Given the description of an element on the screen output the (x, y) to click on. 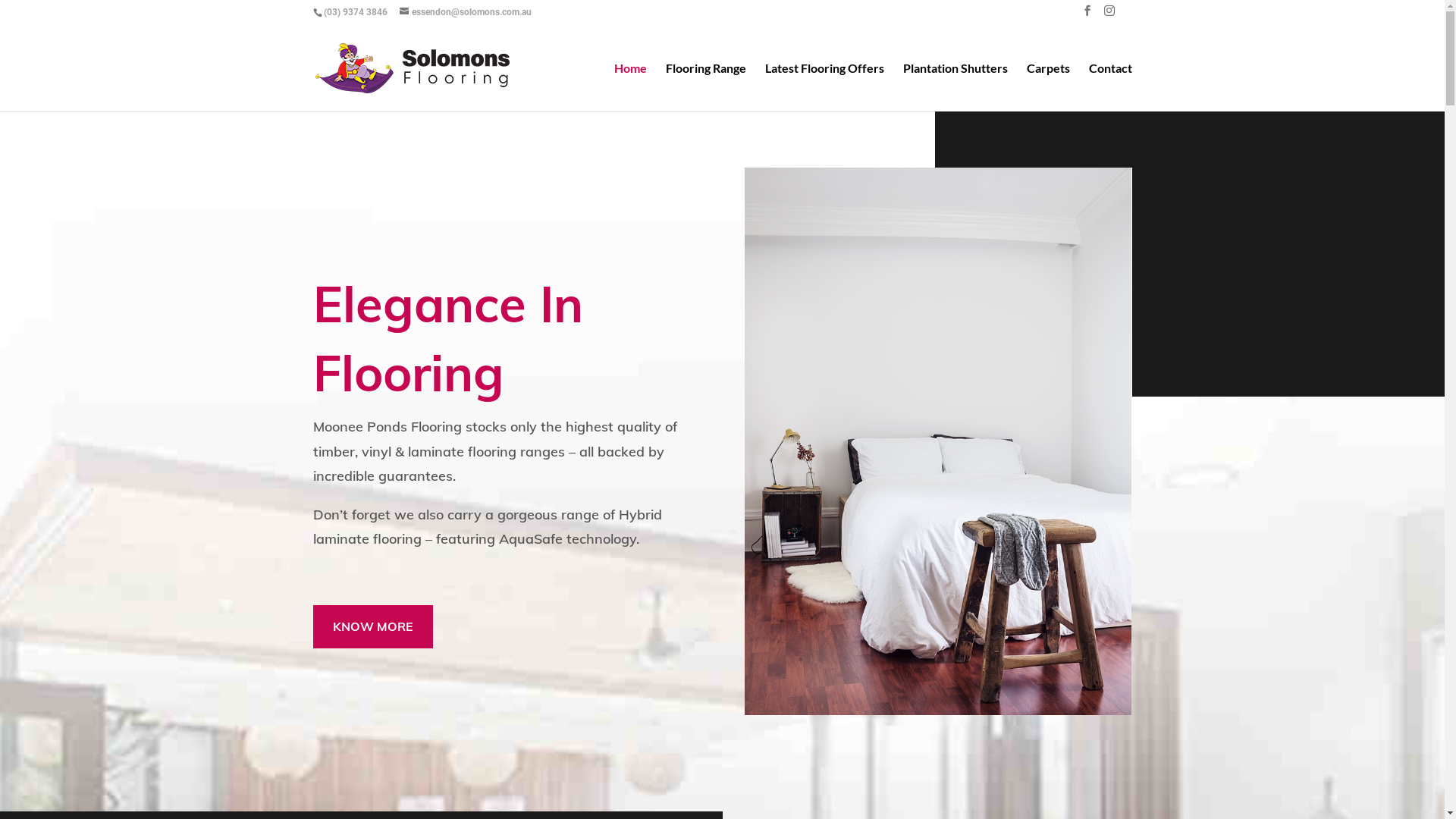
Plantation Shutters Element type: text (954, 86)
(03) 9374 3846 Element type: text (354, 11)
KNOW MORE Element type: text (372, 626)
Flooring Range Element type: text (705, 86)
Contact Element type: text (1110, 86)
Latest Flooring Offers Element type: text (823, 86)
Carpets Element type: text (1048, 86)
Home Element type: text (630, 86)
essendon@solomons.com.au Element type: text (464, 11)
